Given the description of an element on the screen output the (x, y) to click on. 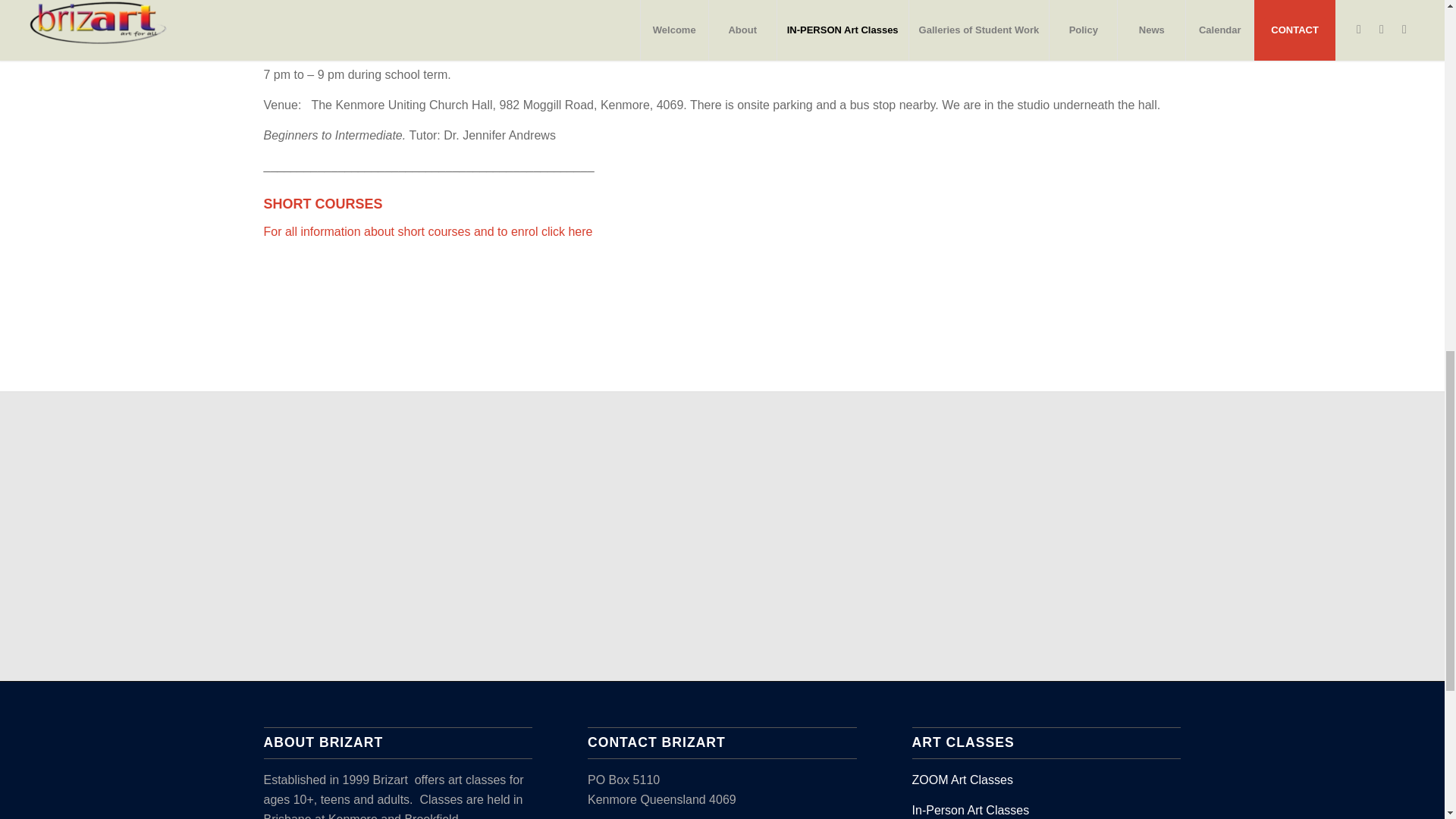
SHORT COURSES (322, 203)
ZOOM Art Classes (962, 779)
TUESDAY EVENING ADULT ART CLASS (378, 16)
In-Person Art Classes (970, 809)
